Given the description of an element on the screen output the (x, y) to click on. 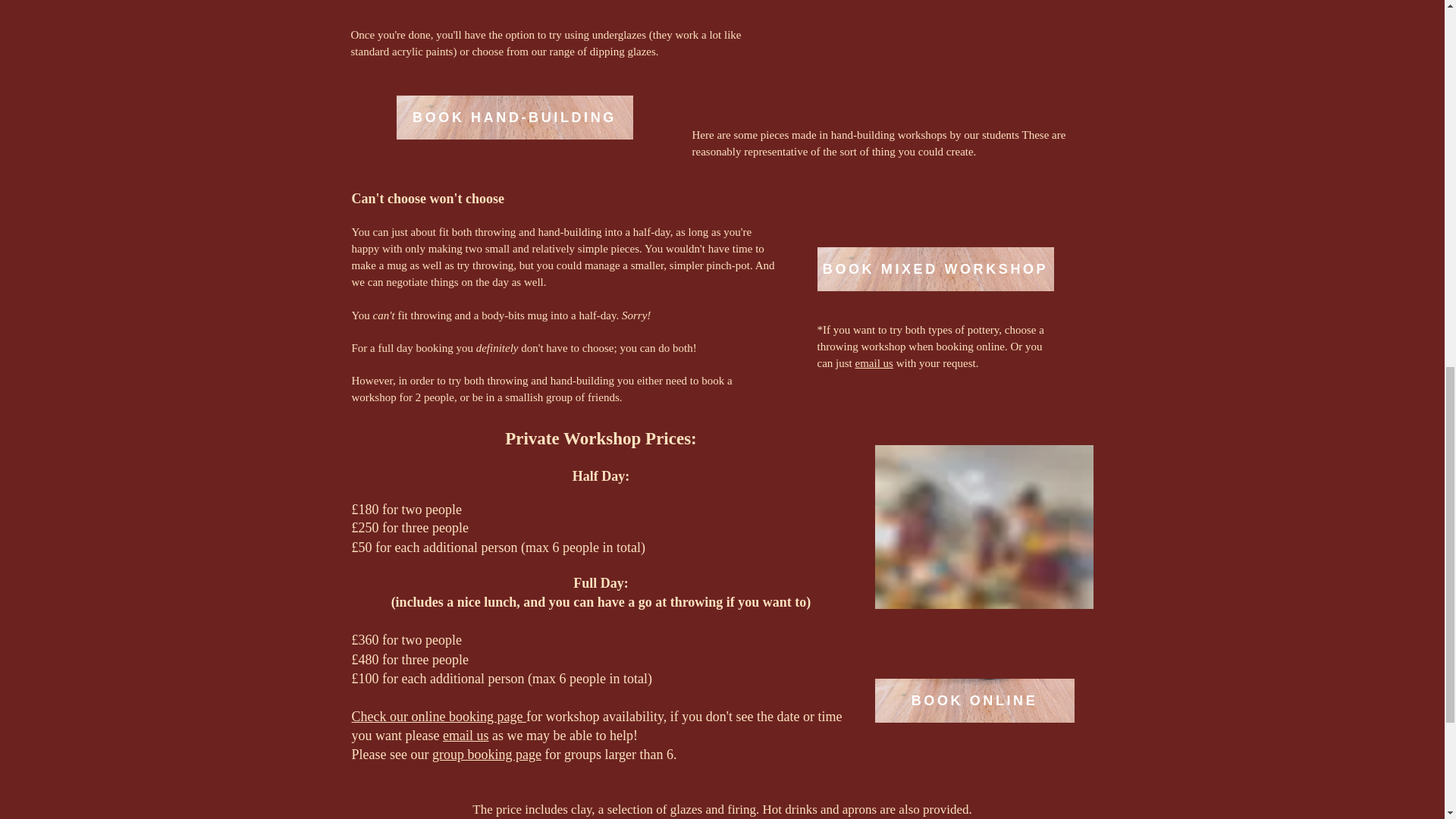
Check our online booking page  (438, 716)
email us (874, 363)
BOOK HAND-BUILDING (513, 117)
group booking page (486, 754)
BOOK ONLINE (974, 700)
email us (465, 735)
BOOK MIXED WORKSHOP (935, 269)
